Given the description of an element on the screen output the (x, y) to click on. 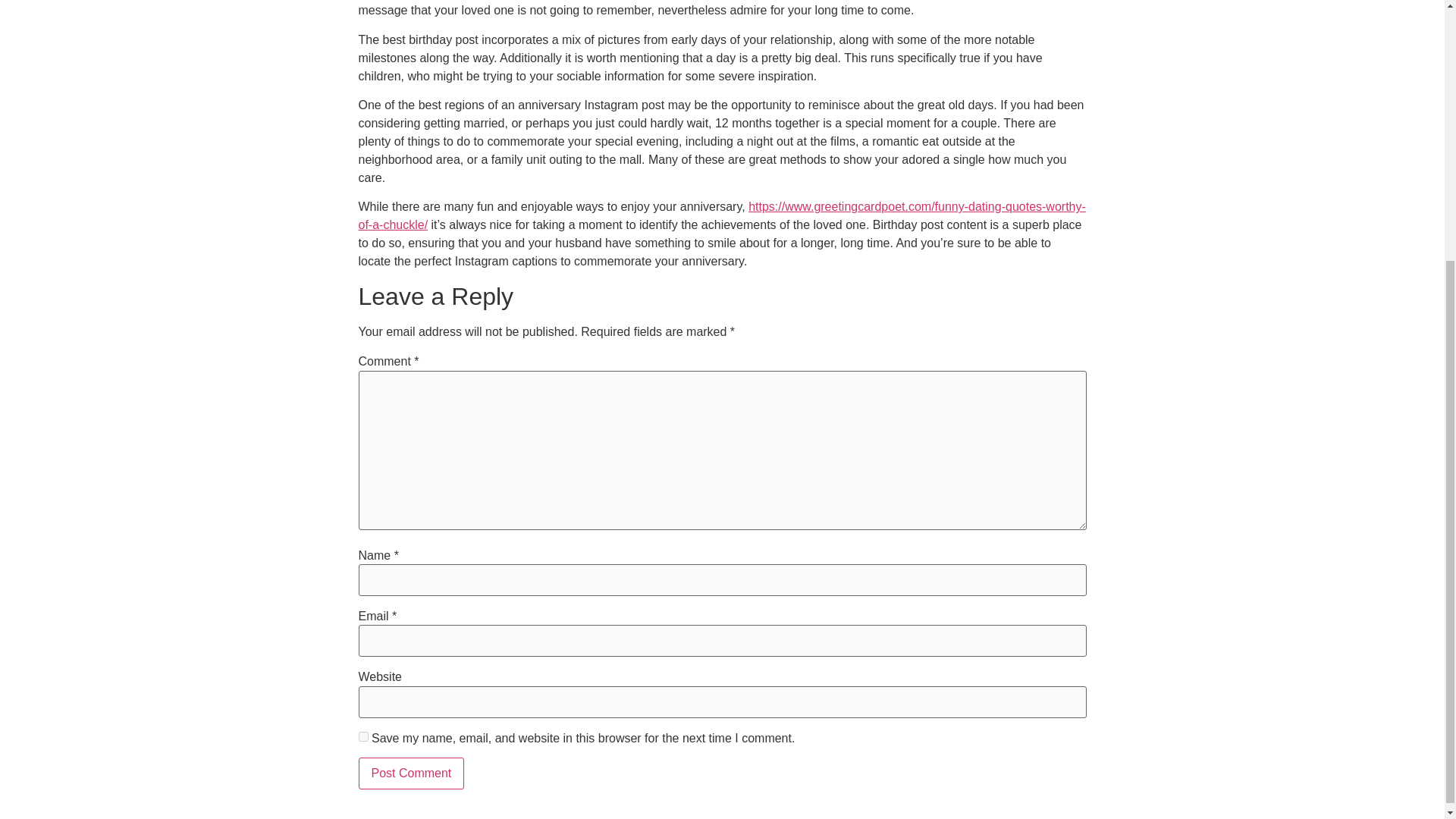
Post Comment (411, 773)
yes (363, 737)
Post Comment (411, 773)
